Given the description of an element on the screen output the (x, y) to click on. 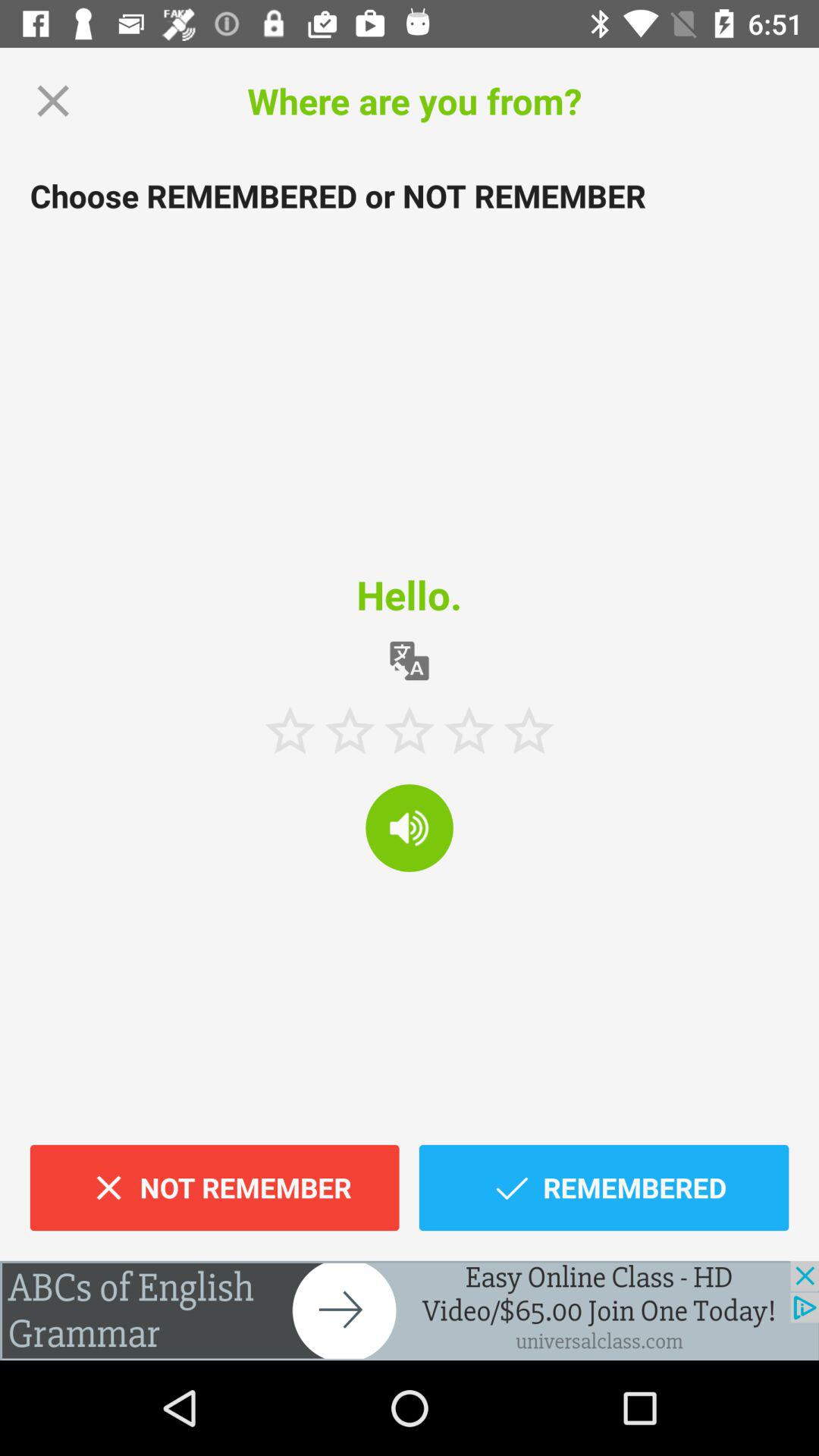
open advertisement (409, 1310)
